Given the description of an element on the screen output the (x, y) to click on. 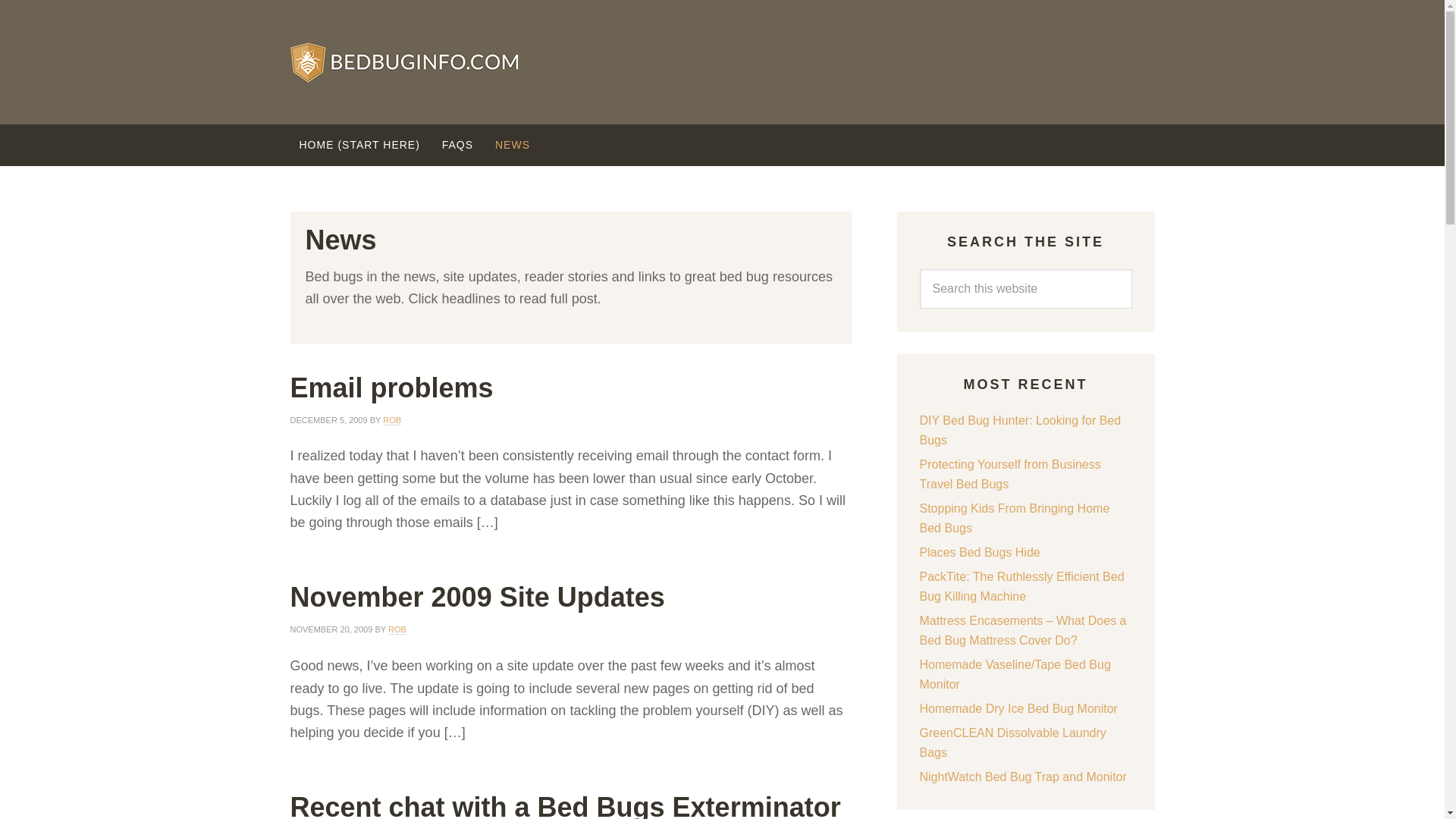
Email problems (391, 386)
BEDBUGINFO.COM (721, 62)
November 2009 Site Updates (476, 596)
ROB (391, 420)
FAQS (456, 145)
ROB (397, 629)
Recent chat with a Bed Bugs Exterminator (564, 805)
NEWS (512, 145)
